Given the description of an element on the screen output the (x, y) to click on. 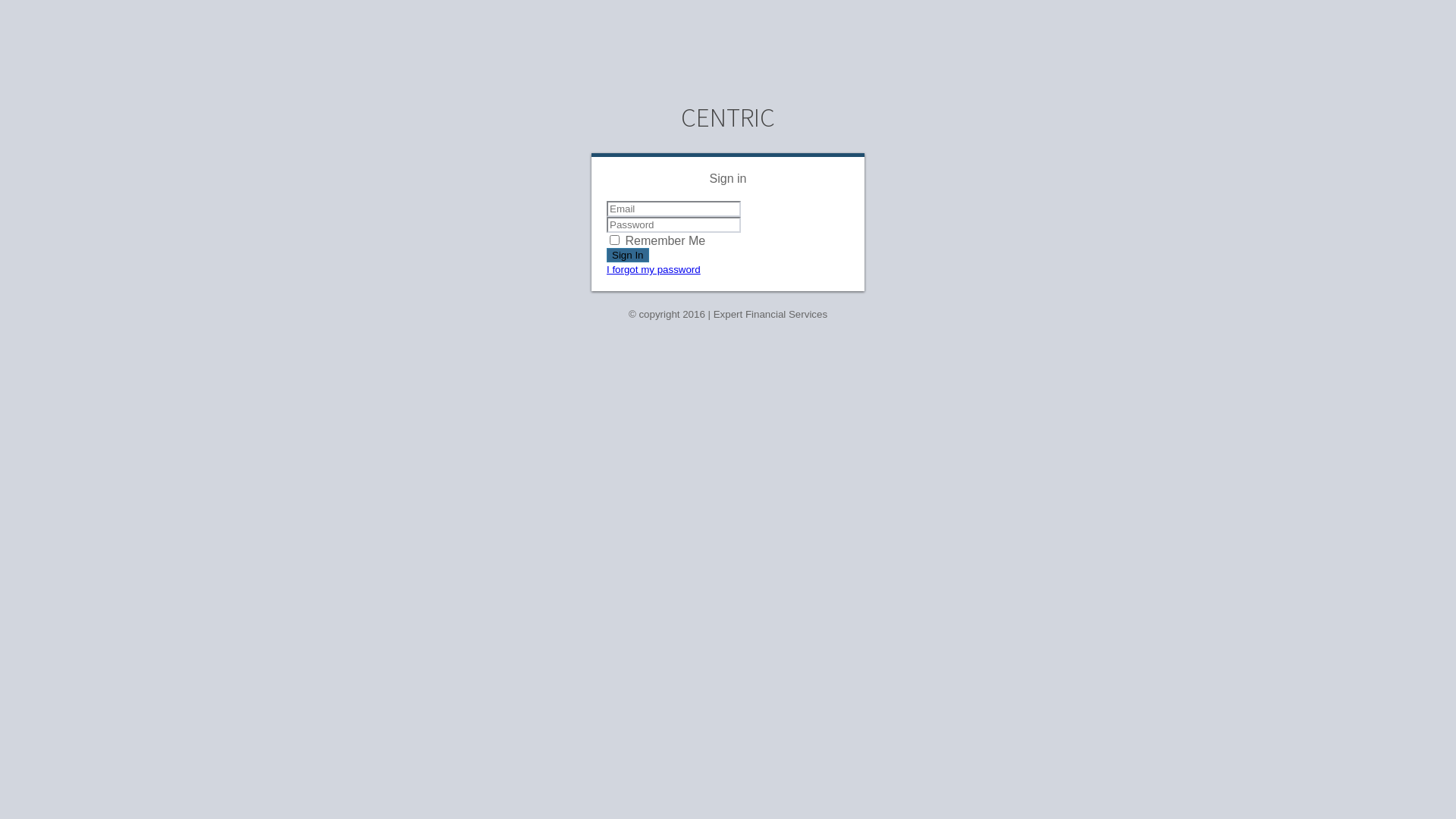
CENTRIC Element type: text (727, 117)
I forgot my password Element type: text (653, 268)
Sign In Element type: text (627, 254)
